Given the description of an element on the screen output the (x, y) to click on. 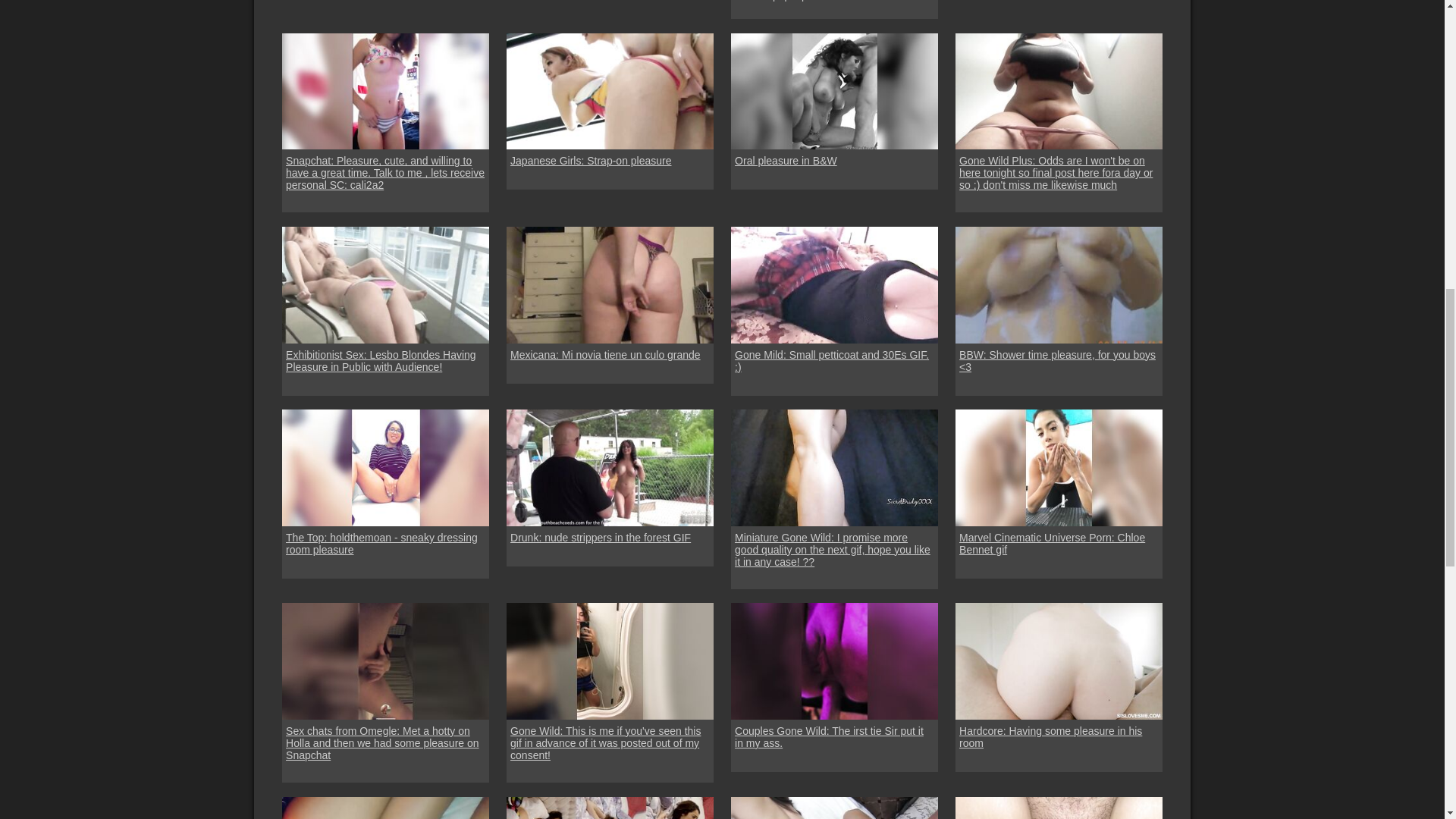
Japanese Girls: Strap-on pleasure (591, 160)
Japanese Girls: Strap-on pleasure (609, 91)
Japanese Girls: Strap-on pleasure (591, 160)
Marvel Cinematic Universe Porn: Chloe Bennet gif (1058, 543)
The Top: holdthemoan - sneaky dressing room pleasure (384, 543)
Drunk: nude strippers in the forest GIF (600, 537)
Mexicana: Mi novia tiene un culo grande (605, 354)
